Given the description of an element on the screen output the (x, y) to click on. 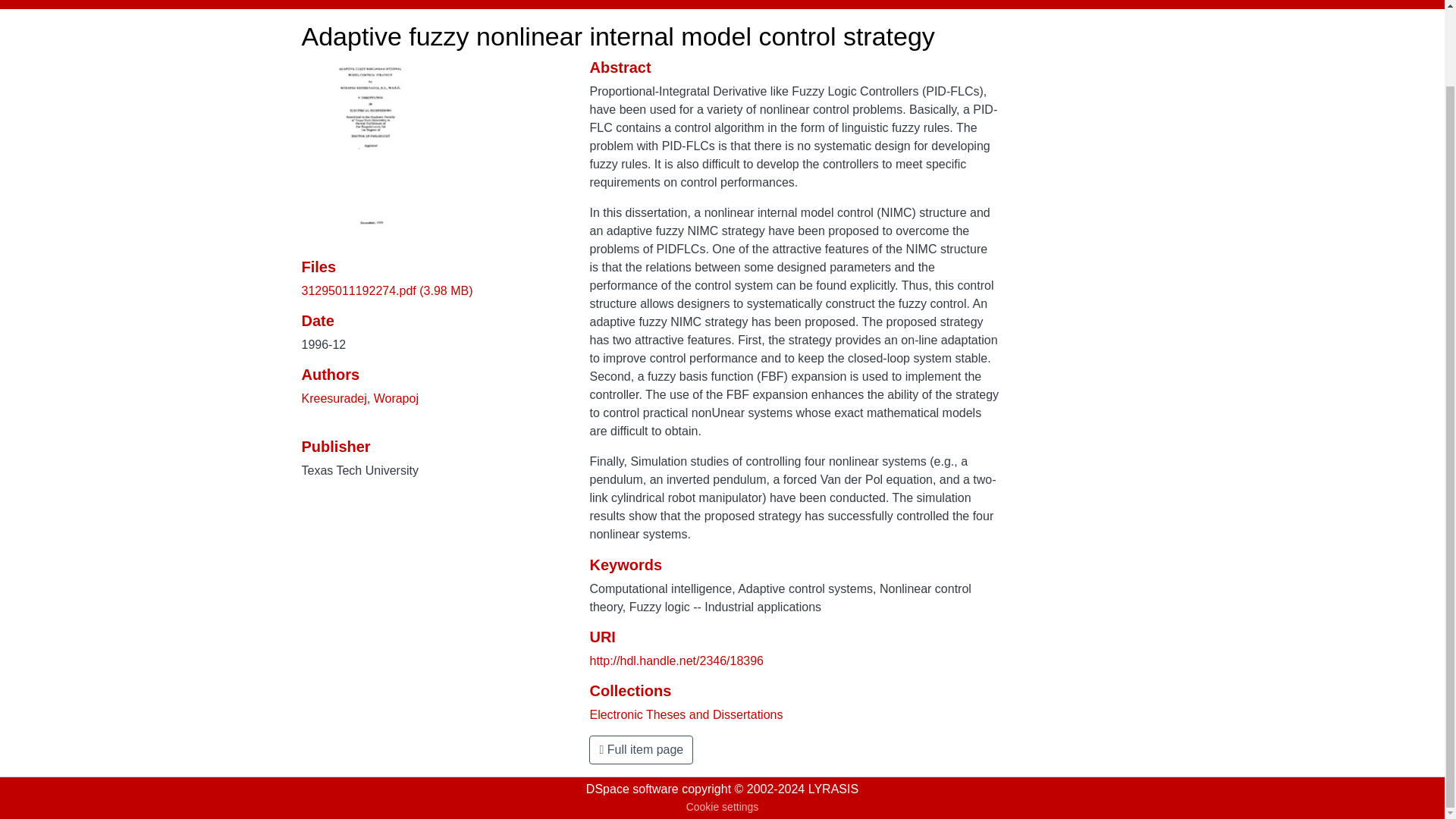
LYRASIS (833, 788)
Kreesuradej, Worapoj (360, 398)
Full item page (641, 749)
DSpace software (632, 788)
ThinkTech (452, 1)
Cookie settings (722, 806)
Electronic Theses and Dissertations (686, 714)
TTU DSpace Home (354, 1)
Electronic Theses and Dissertations (571, 1)
